Given the description of an element on the screen output the (x, y) to click on. 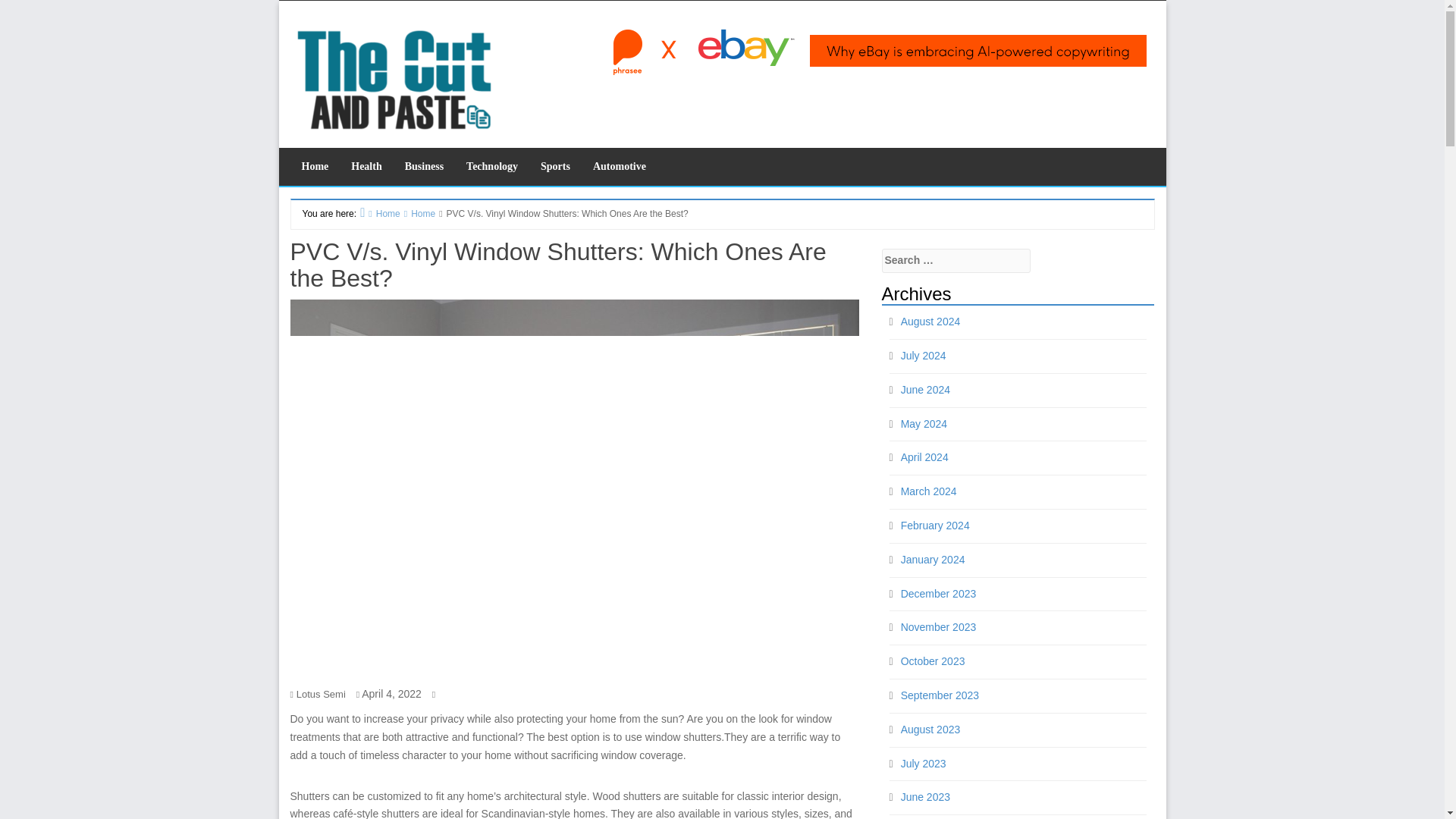
Sports (554, 166)
October 2023 (933, 661)
August 2023 (930, 729)
Business (423, 166)
Technology (491, 166)
Business (423, 166)
April 2024 (925, 457)
July 2024 (923, 355)
Automotive (619, 166)
January 2024 (933, 559)
